Given the description of an element on the screen output the (x, y) to click on. 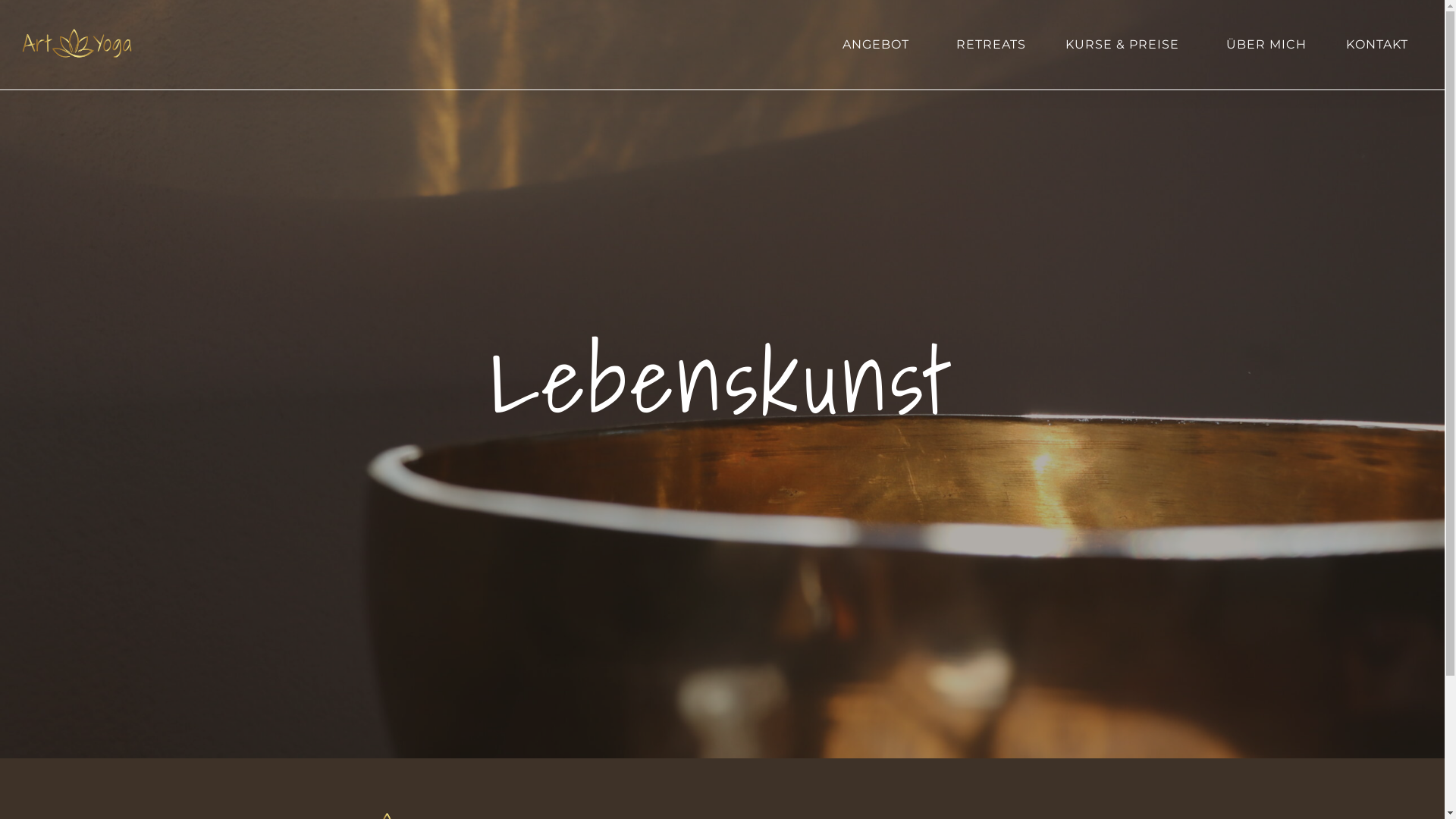
RETREATS Element type: text (990, 44)
KURSE & PREISE Element type: text (1125, 44)
ANGEBOT Element type: text (879, 44)
KONTAKT Element type: text (1377, 44)
